Given the description of an element on the screen output the (x, y) to click on. 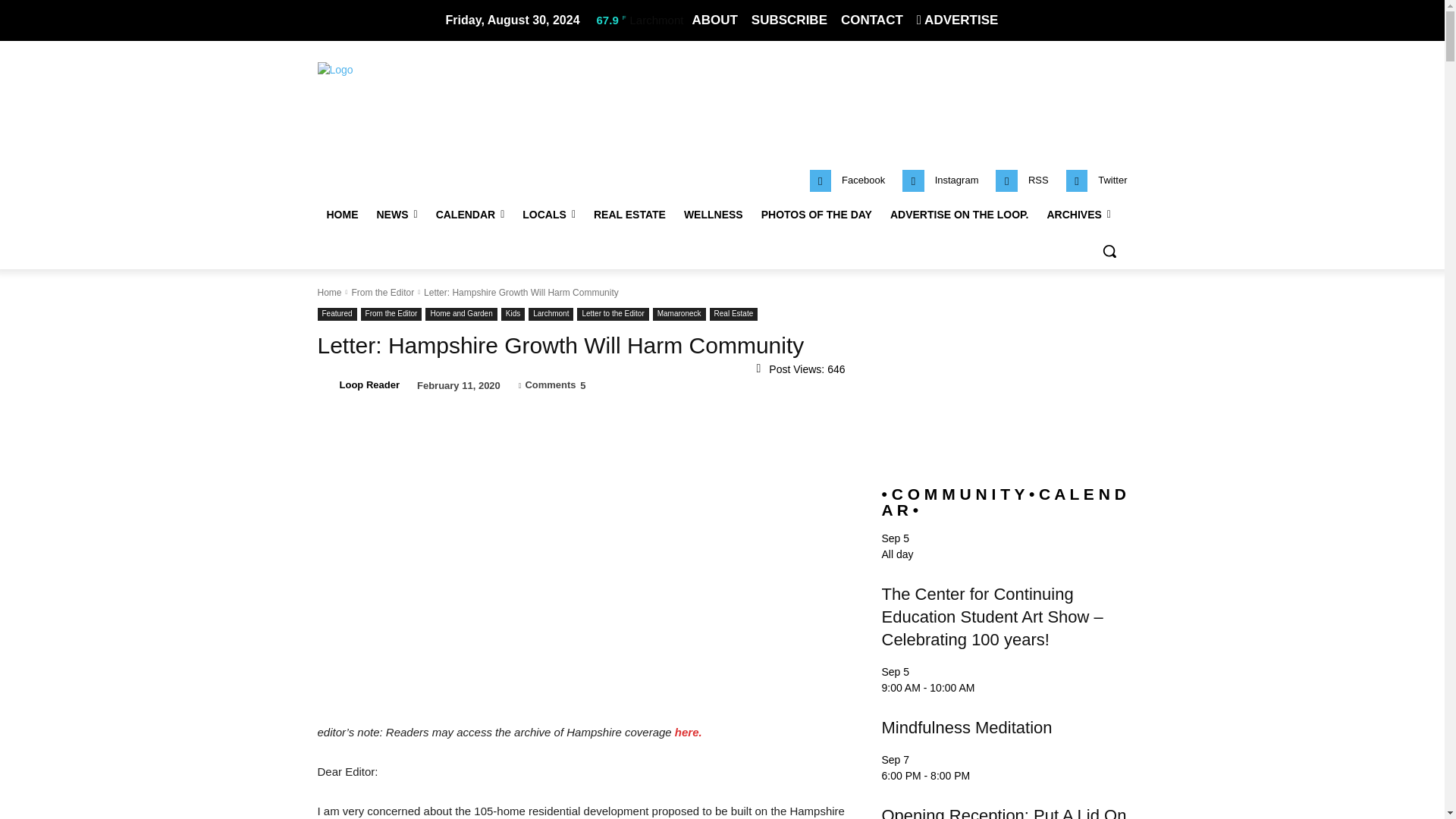
RSS (1037, 179)
ABOUT (714, 20)
Instagram (956, 179)
Twitter (1076, 180)
Twitter (1111, 179)
NEWS (396, 213)
HOME (341, 213)
CONTACT (872, 20)
RSS (1006, 180)
Facebook (863, 179)
